Given the description of an element on the screen output the (x, y) to click on. 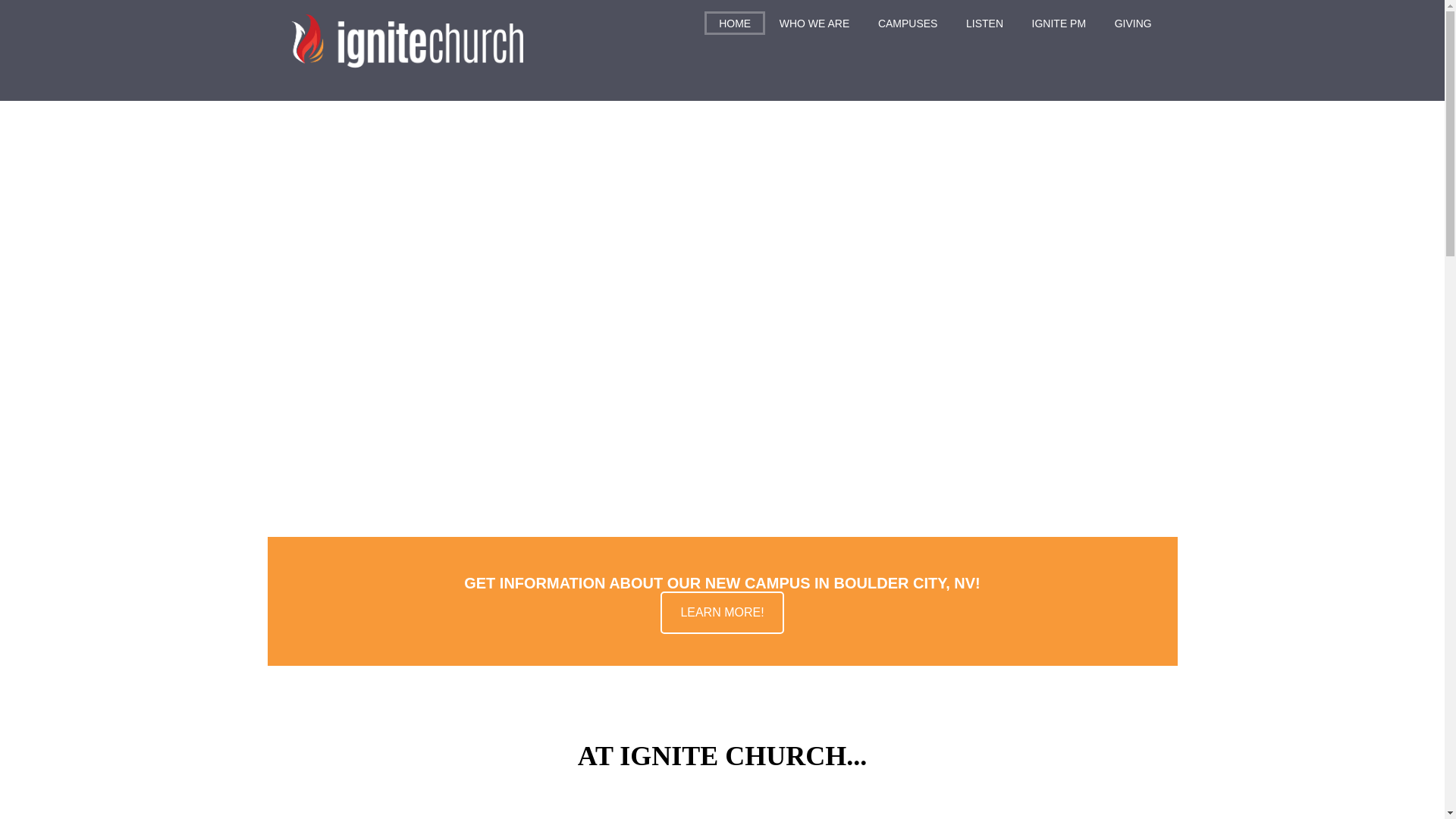
CAMPUSES (907, 23)
LISTEN (984, 23)
IGNITE PM (1058, 23)
LEARN MORE! (722, 612)
HOME (734, 23)
Boulder City, NV (722, 612)
GIVING (1133, 23)
WHO WE ARE (814, 23)
